Given the description of an element on the screen output the (x, y) to click on. 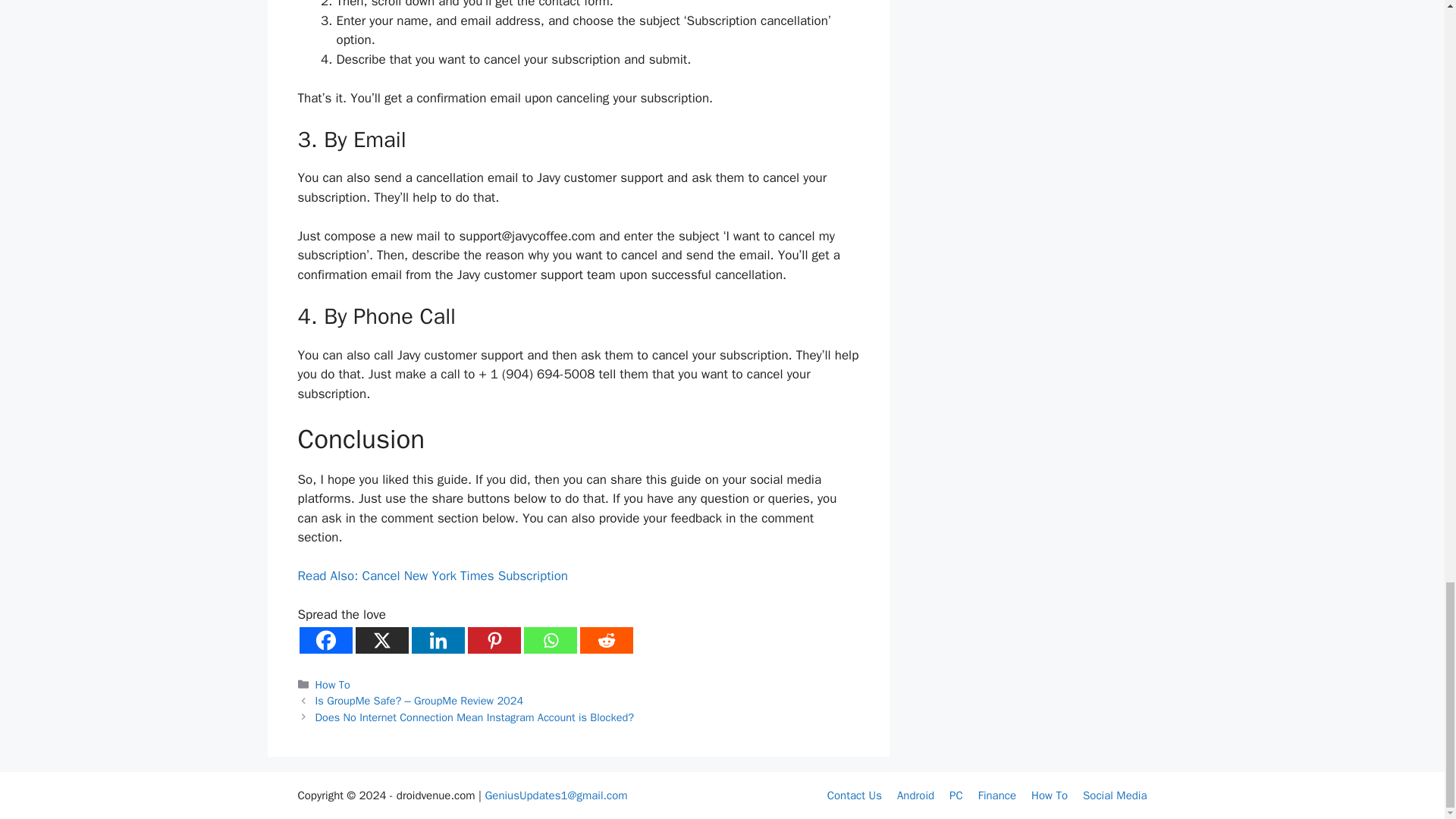
Linkedin (437, 640)
Pinterest (493, 640)
Facebook (325, 640)
Android (915, 795)
Whatsapp (549, 640)
Read Also: Cancel New York Times Subscription (432, 575)
How To (332, 684)
How To (1048, 795)
X (381, 640)
Contact Us (854, 795)
